Given the description of an element on the screen output the (x, y) to click on. 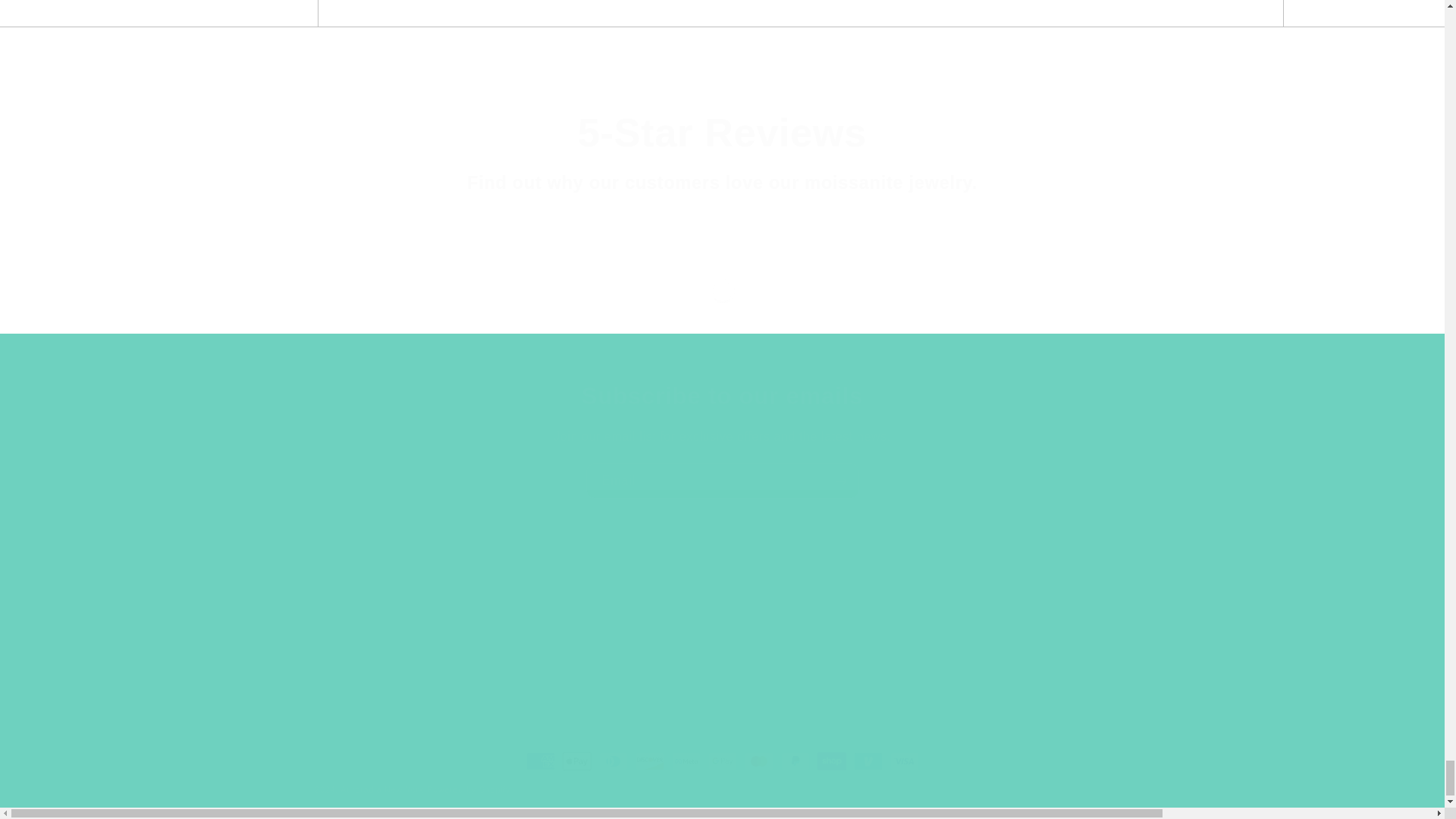
Find out why our customers love our moissanite jewelry. (721, 182)
5-Star Reviews (721, 132)
Subscribe to our emails (721, 396)
Email (722, 480)
